Given the description of an element on the screen output the (x, y) to click on. 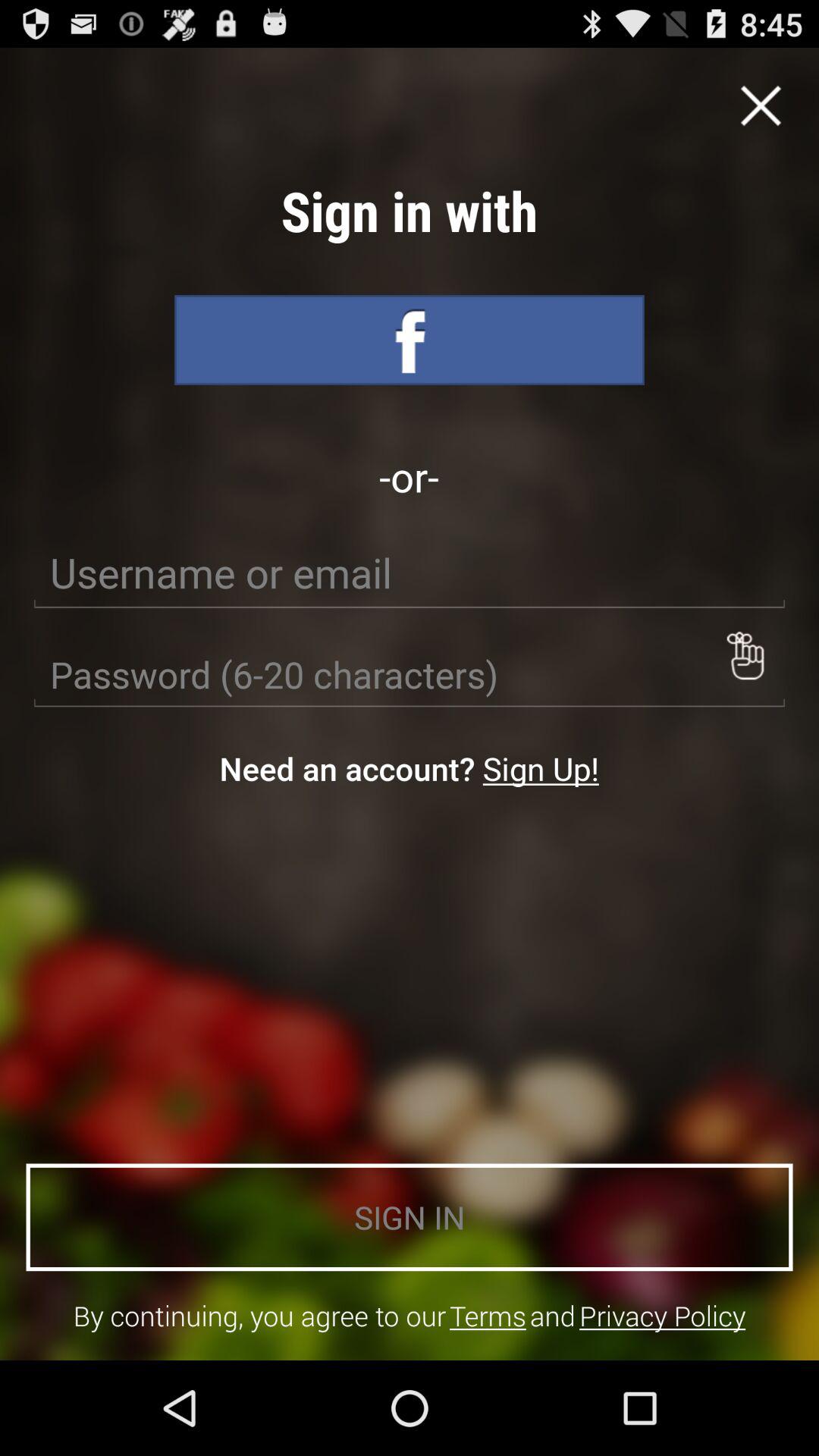
select icon below -or- icon (409, 572)
